Given the description of an element on the screen output the (x, y) to click on. 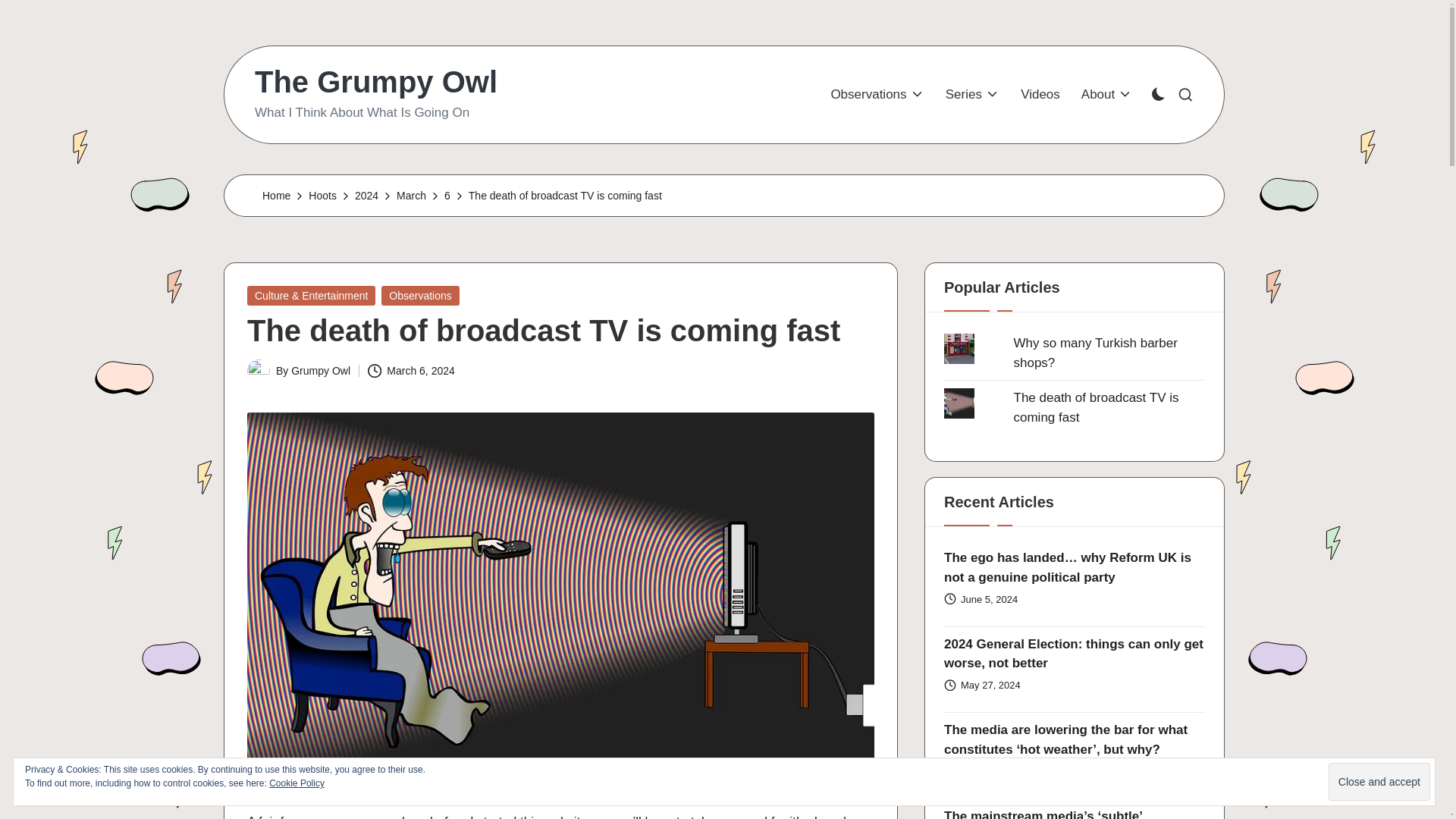
Videos (1039, 94)
View all posts by Grumpy Owl (320, 370)
Close and accept (1378, 781)
Series (971, 94)
Observations (876, 94)
The Grumpy Owl (375, 81)
